Given the description of an element on the screen output the (x, y) to click on. 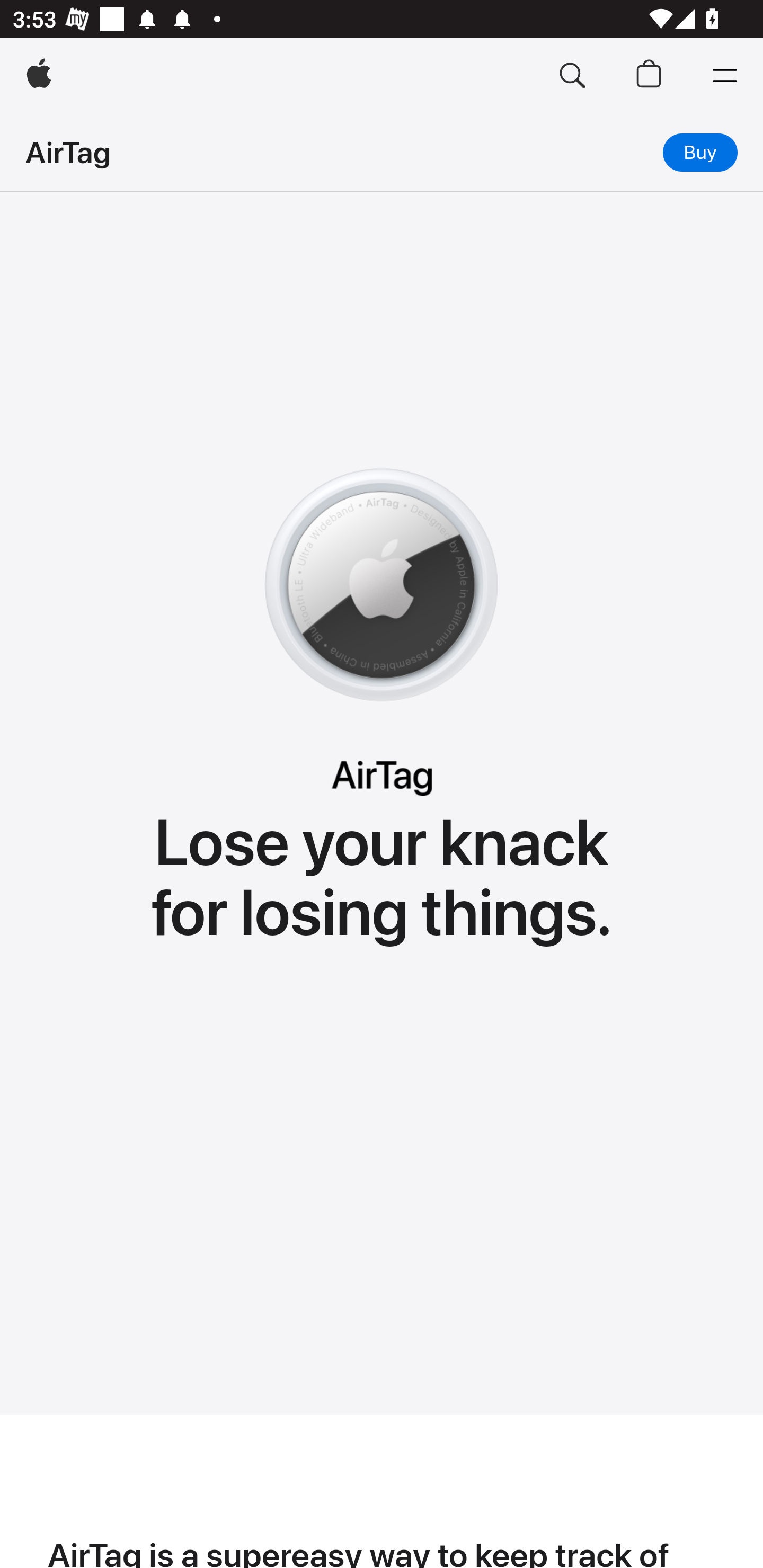
Apple (38, 75)
Search apple.com (572, 75)
Shopping Bag (648, 75)
Menu (724, 75)
AirTag (68, 151)
Buy AirTag Buy AirTag (700, 151)
